Given the description of an element on the screen output the (x, y) to click on. 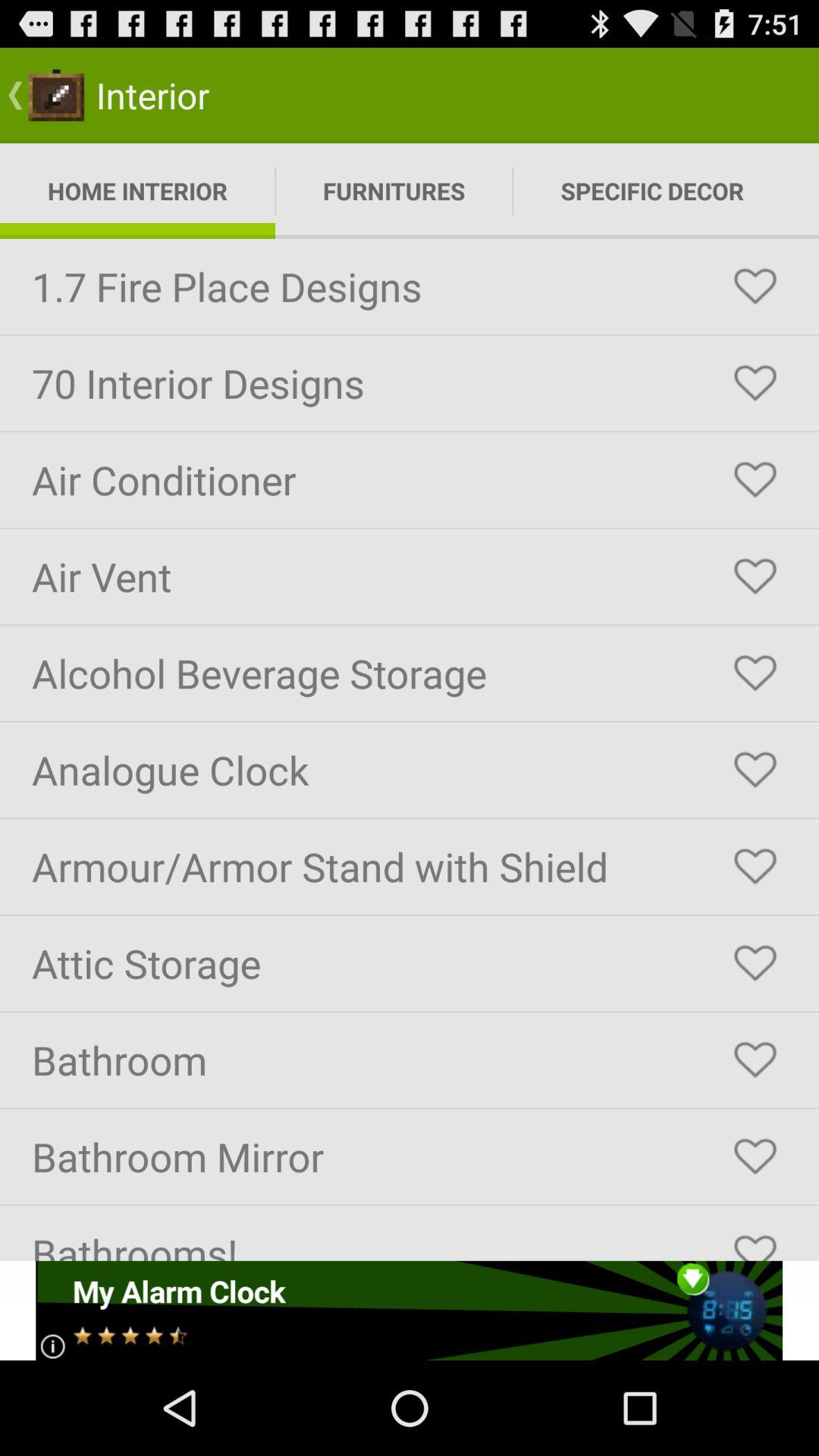
like page (755, 866)
